Given the description of an element on the screen output the (x, y) to click on. 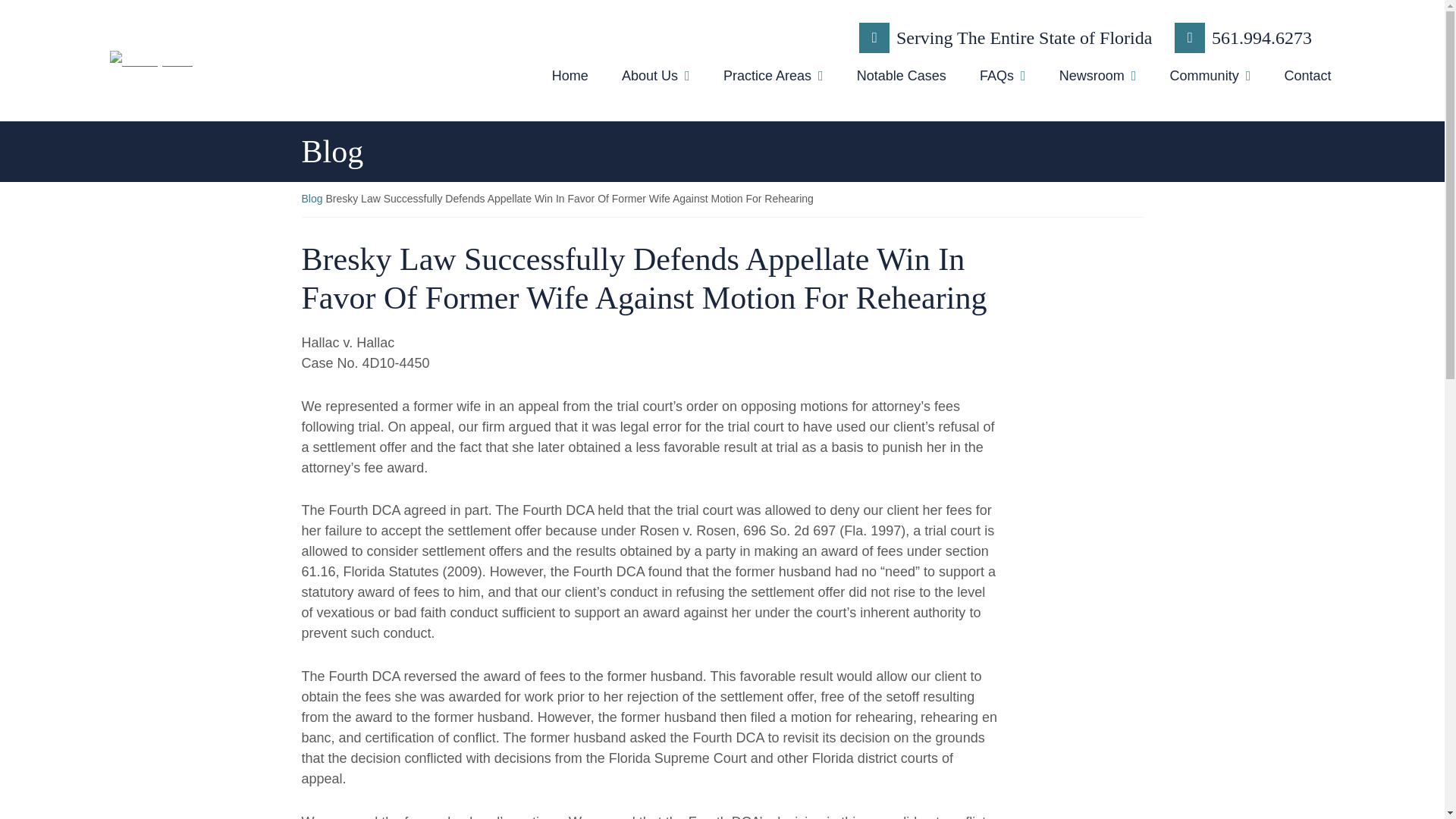
Community (1209, 78)
About Us (656, 78)
Newsroom (1097, 78)
Return home (306, 60)
Practice Areas (773, 78)
FAQs (1002, 78)
561.994.6273 (1242, 37)
Contact (1308, 78)
Blog (312, 198)
Serving The Entire State of Florida (1005, 37)
Home (569, 78)
Notable Cases (901, 78)
